Given the description of an element on the screen output the (x, y) to click on. 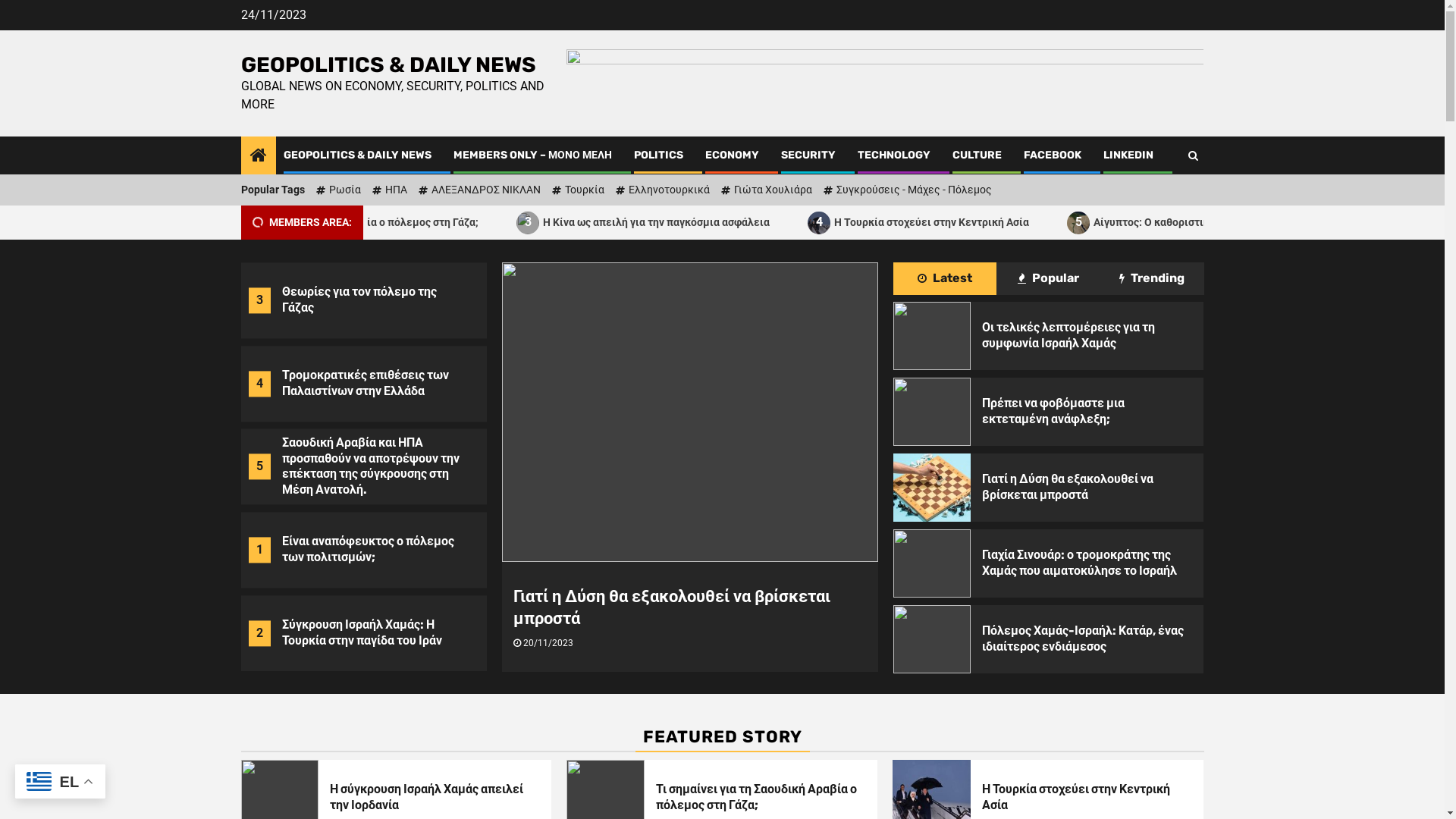
GEOPOLITICS & DAILY NEWS Element type: text (388, 64)
Latest Element type: text (945, 278)
CULTURE Element type: text (976, 154)
TECHNOLOGY Element type: text (892, 154)
FACEBOOK Element type: text (1052, 154)
Trending Element type: text (1152, 278)
Search Element type: hover (1192, 155)
ECONOMY Element type: text (732, 154)
SECURITY Element type: text (808, 154)
LINKEDIN Element type: text (1127, 154)
POLITICS Element type: text (658, 154)
Popular Element type: text (1048, 278)
GEOPOLITICS & DAILY NEWS Element type: text (357, 154)
